Given the description of an element on the screen output the (x, y) to click on. 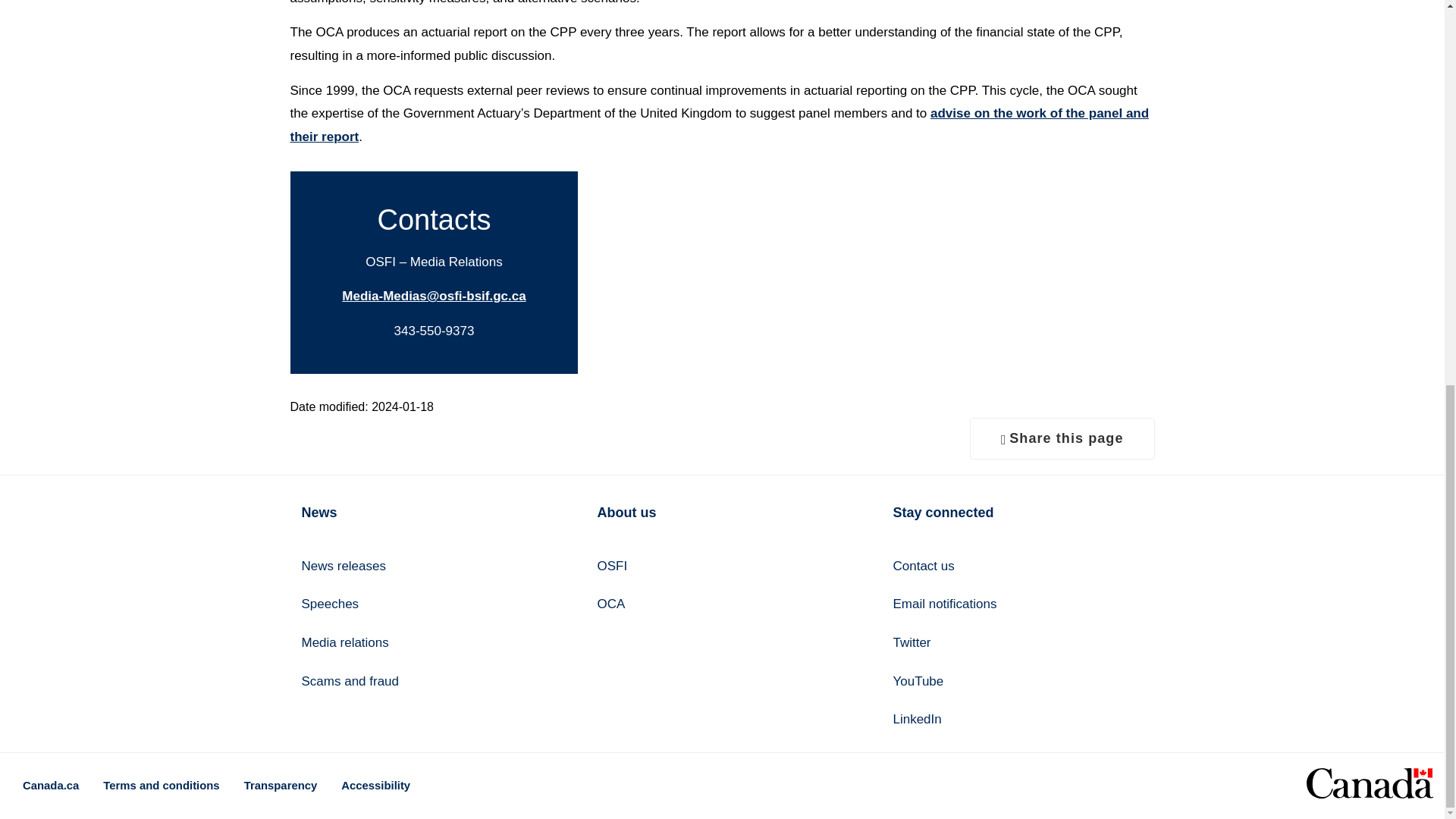
News releases (425, 566)
News releases (425, 566)
Office of the Superintendent of Financial Institutions (722, 566)
advise on the work of the panel and their report (718, 125)
Scams and fraud (425, 681)
Share this page (1061, 437)
Speeches (425, 604)
Media relations (425, 643)
Scams and fraud (425, 681)
Speeches (425, 604)
Media relations (425, 643)
